Given the description of an element on the screen output the (x, y) to click on. 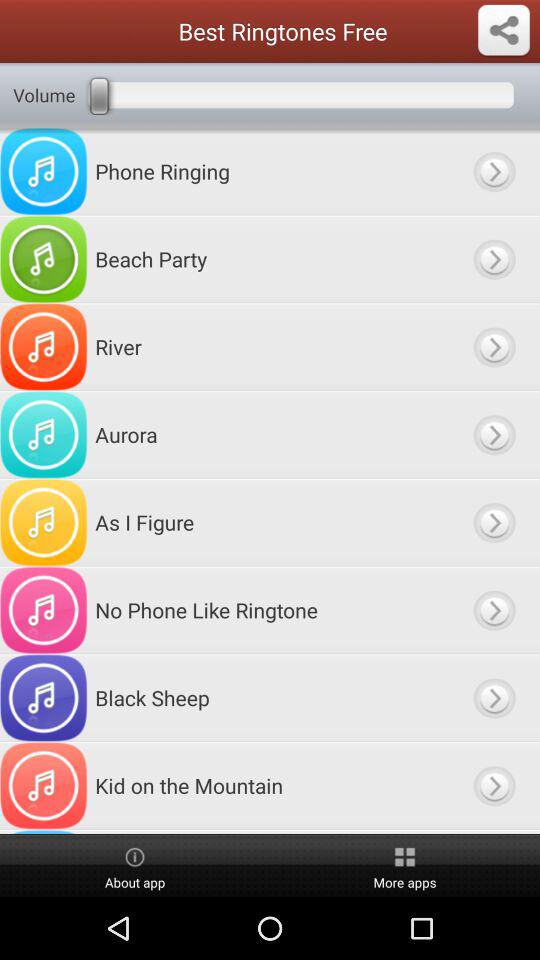
next option (494, 610)
